Given the description of an element on the screen output the (x, y) to click on. 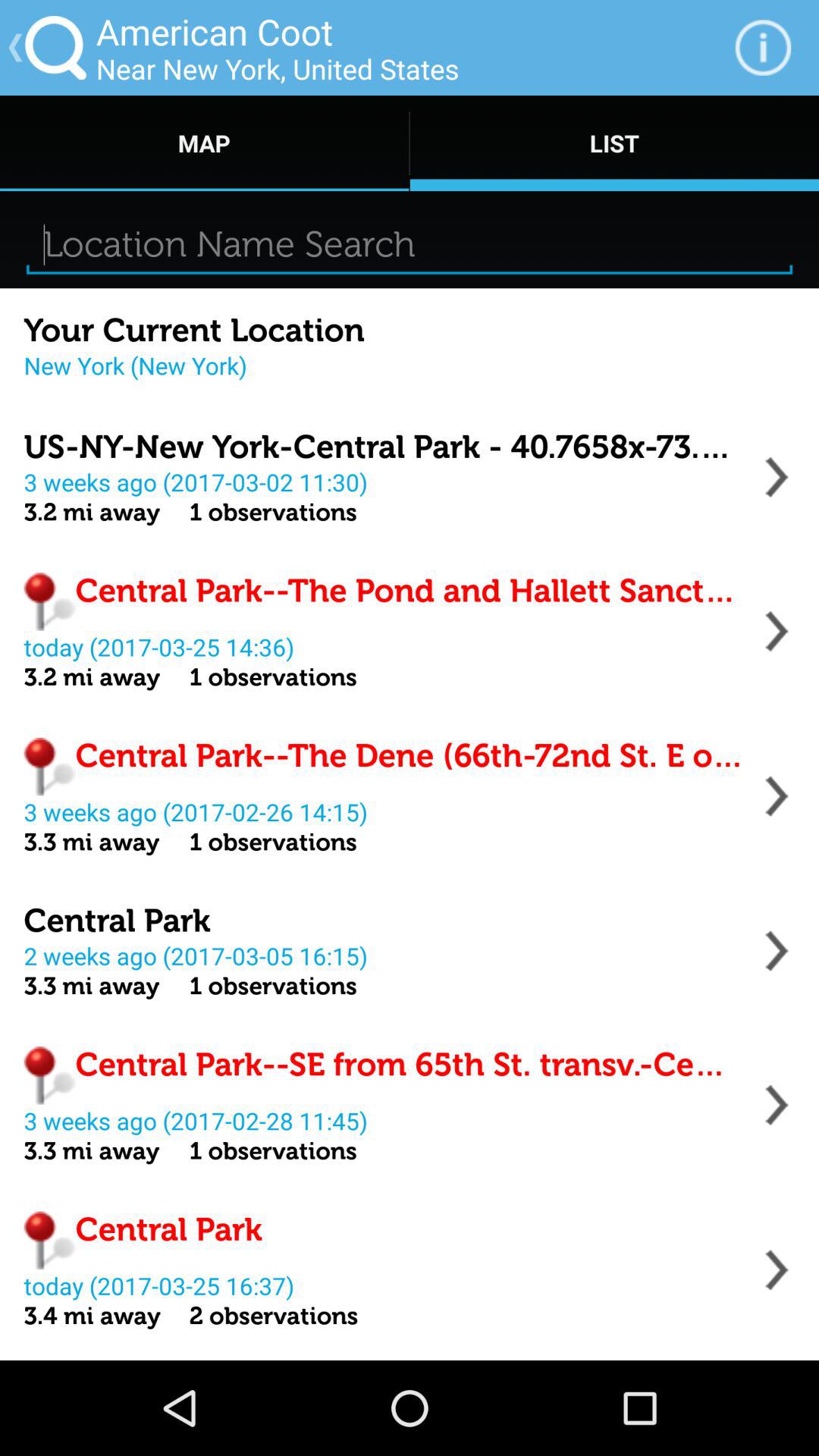
expand address (776, 1104)
